Given the description of an element on the screen output the (x, y) to click on. 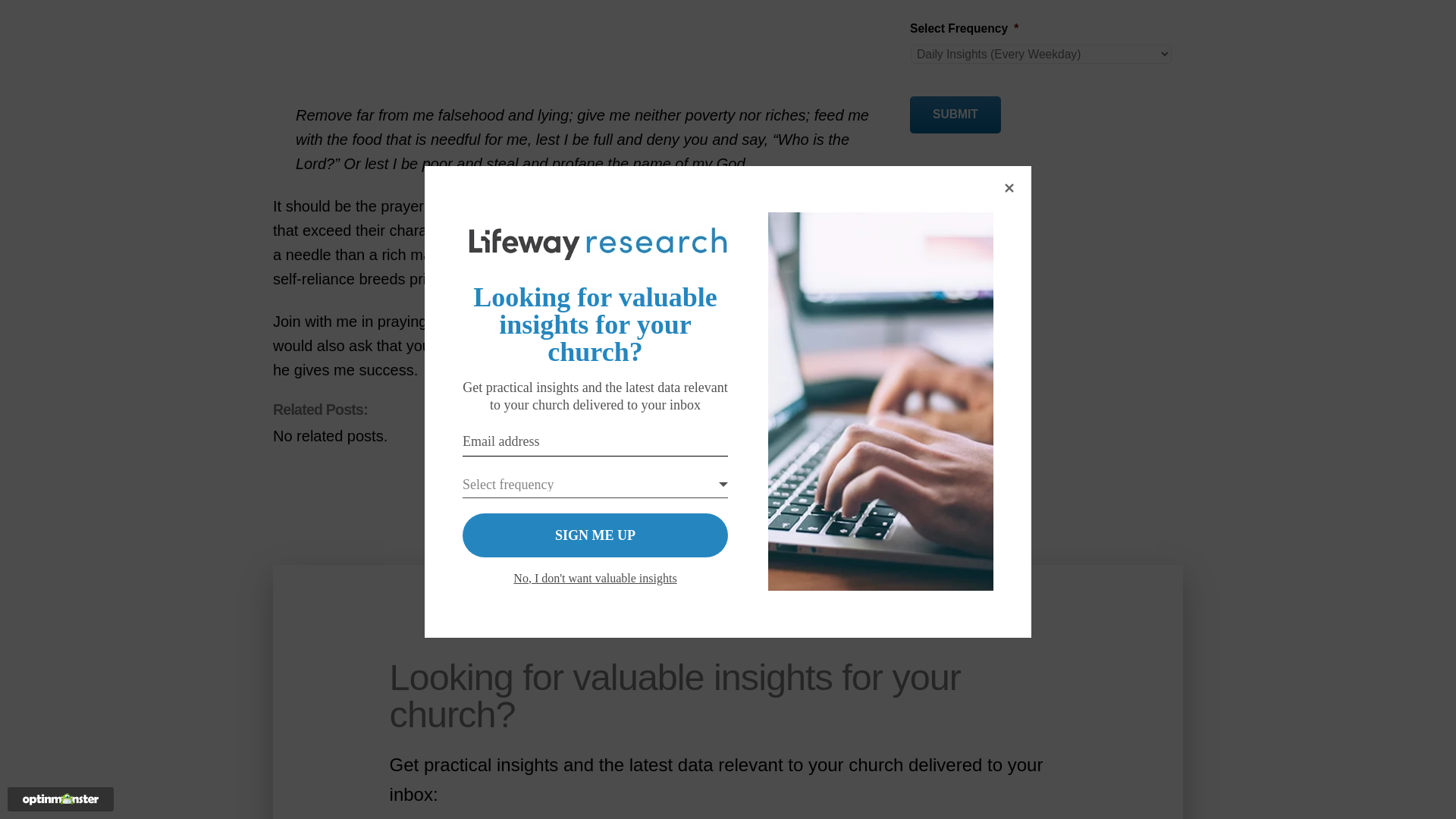
Submit (955, 114)
